Given the description of an element on the screen output the (x, y) to click on. 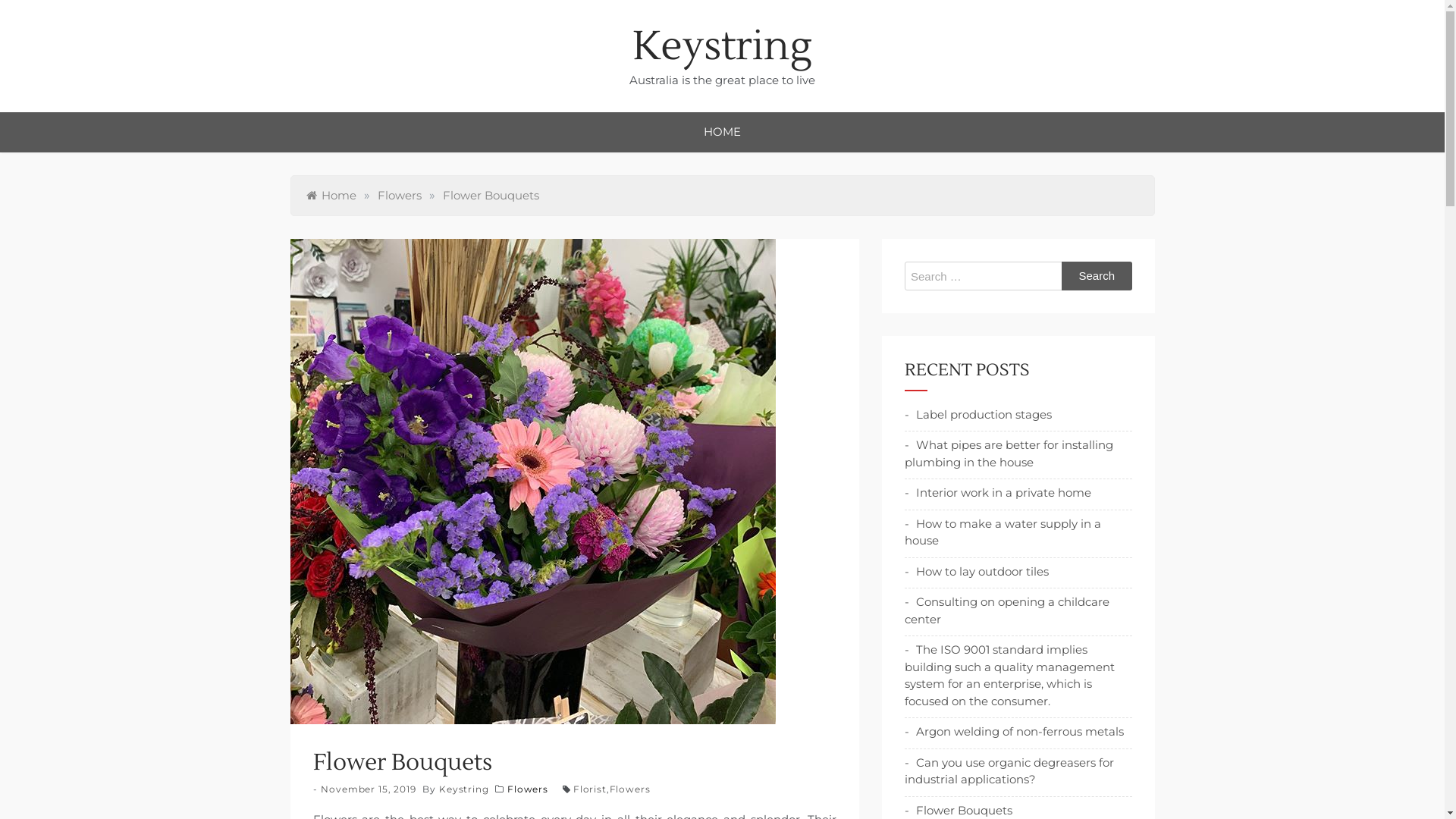
Argon welding of non-ferrous metals Element type: text (1013, 731)
Keystring Element type: text (464, 788)
Flowers Element type: text (527, 788)
How to make a water supply in a house Element type: text (1001, 532)
November 15, 2019 Element type: text (367, 788)
Flowers Element type: text (399, 195)
Flowers Element type: text (629, 788)
Flower Bouquets Element type: text (957, 810)
Home Element type: text (331, 195)
HOME Element type: text (721, 132)
Can you use organic degreasers for industrial applications? Element type: text (1008, 771)
Interior work in a private home Element type: text (996, 492)
Consulting on opening a childcare center Element type: text (1005, 610)
Keystring Element type: text (722, 46)
What pipes are better for installing plumbing in the house Element type: text (1007, 453)
Search Element type: text (1096, 275)
Label production stages Element type: text (977, 414)
How to lay outdoor tiles Element type: text (975, 571)
Florist Element type: text (589, 788)
Flower Bouquets Element type: text (490, 195)
